Given the description of an element on the screen output the (x, y) to click on. 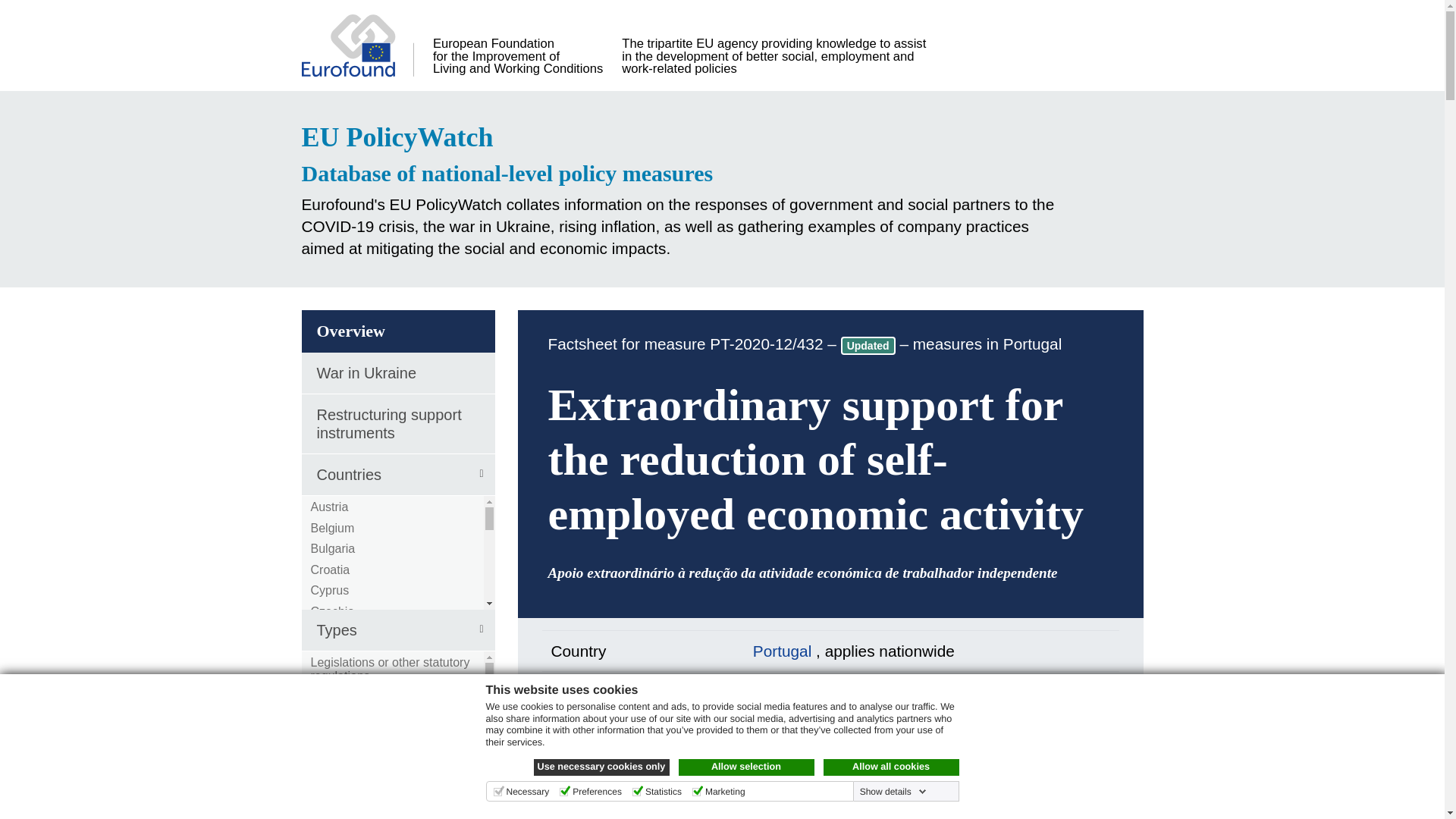
Countries (398, 475)
Austria (330, 506)
Countries (398, 475)
War in Ukraine (398, 372)
Show details (893, 791)
EU PolicyWatch (687, 137)
Categories (398, 785)
Use necessary cookies only (601, 767)
Allow all cookies (891, 767)
Allow selection (745, 767)
Belgium (333, 527)
Overview (398, 331)
